Given the description of an element on the screen output the (x, y) to click on. 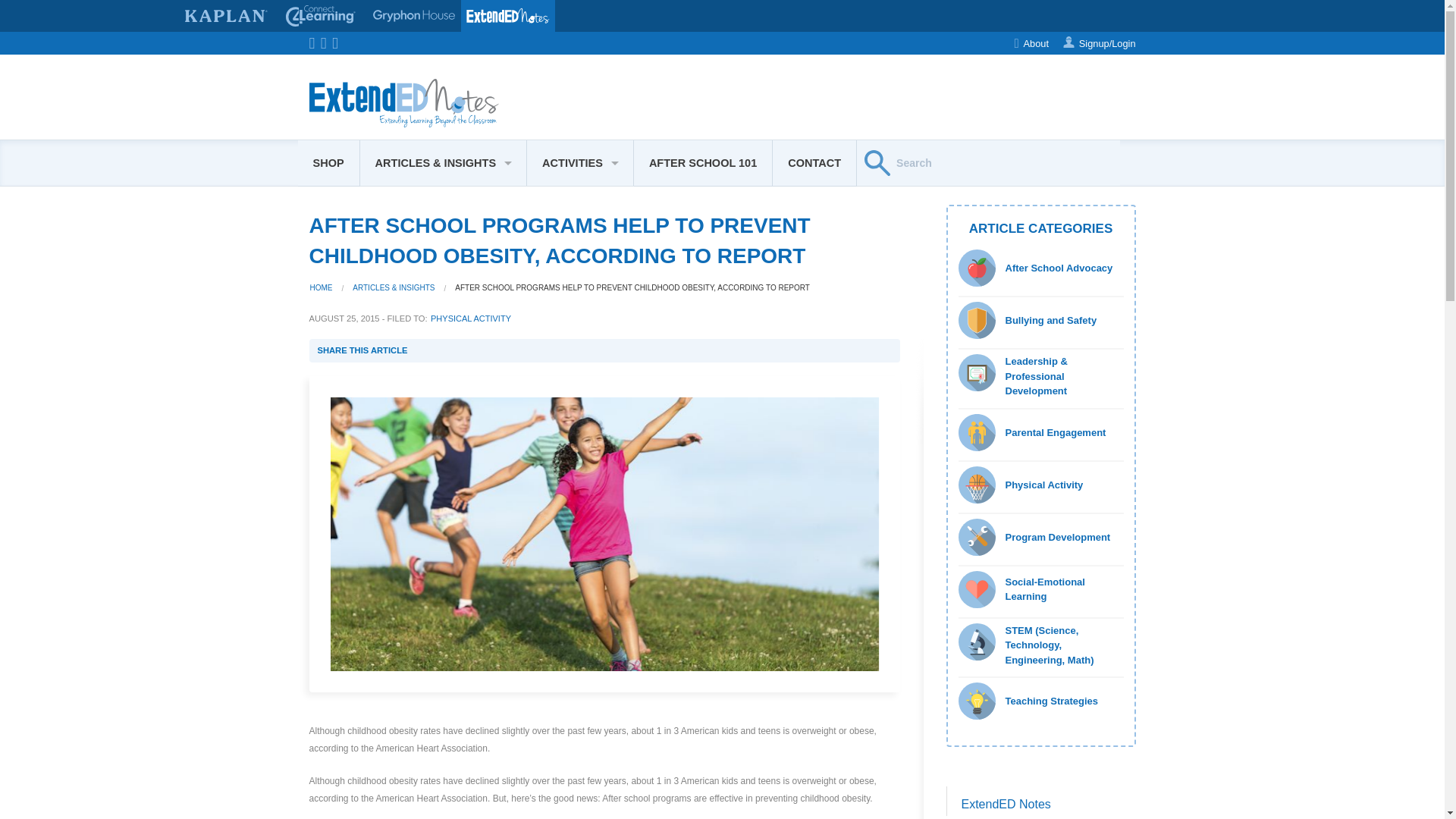
SEASONAL (580, 203)
BULLYING AND SAFETY (443, 422)
MATH (580, 458)
CONTACT (815, 162)
PARENTAL ENGAGEMENT (443, 458)
SOCIAL-EMOTIONAL LEARNING (443, 203)
AFTER SCHOOL ADVOCACY (443, 240)
TEACHING STRATEGIES (443, 386)
OUTDOOR (580, 240)
MUSIC (580, 349)
